Given the description of an element on the screen output the (x, y) to click on. 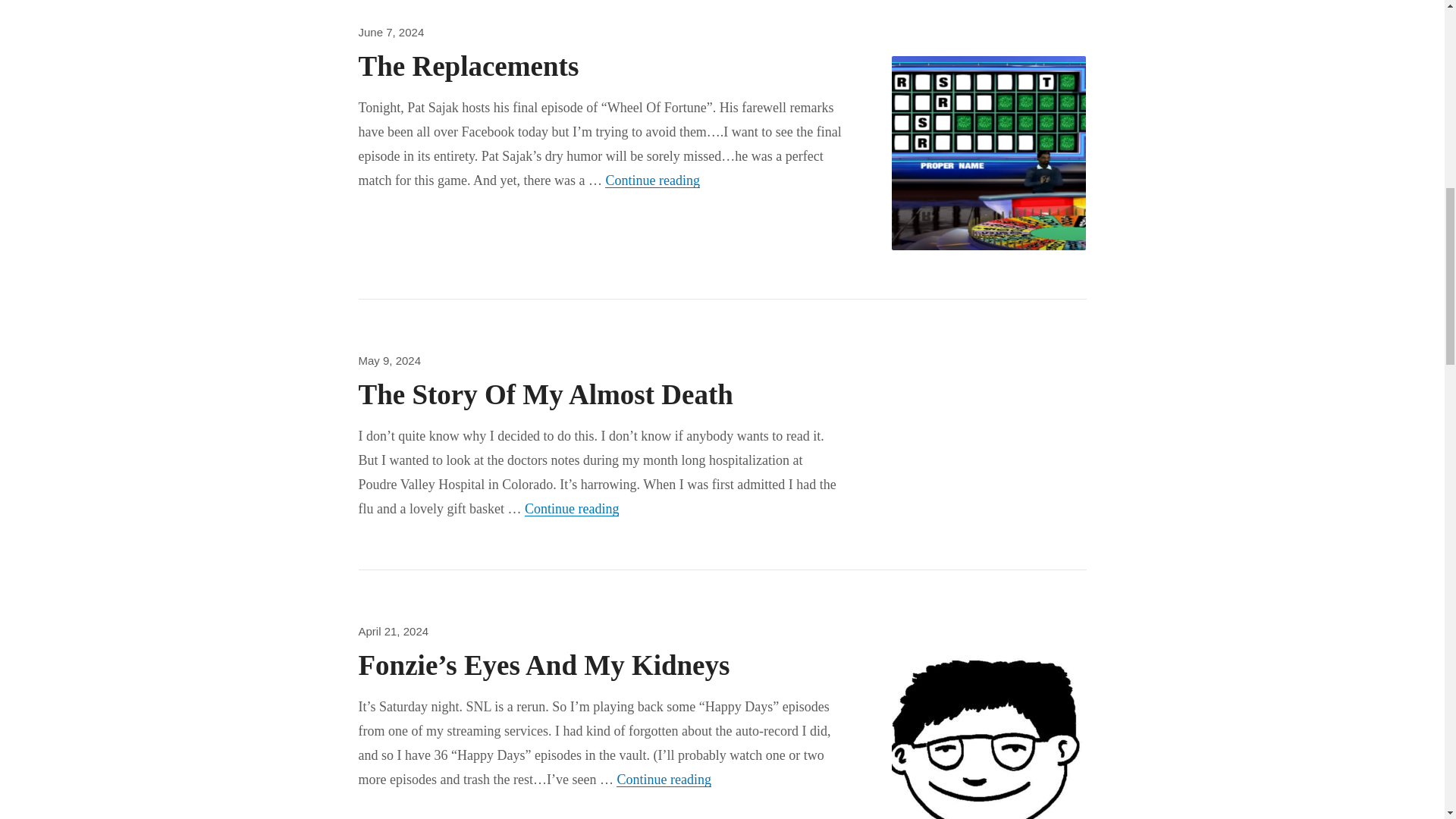
May 9, 2024 (389, 359)
The Replacements (651, 180)
April 21, 2024 (468, 65)
June 7, 2024 (393, 631)
The Story Of My Almost Death (390, 31)
